Given the description of an element on the screen output the (x, y) to click on. 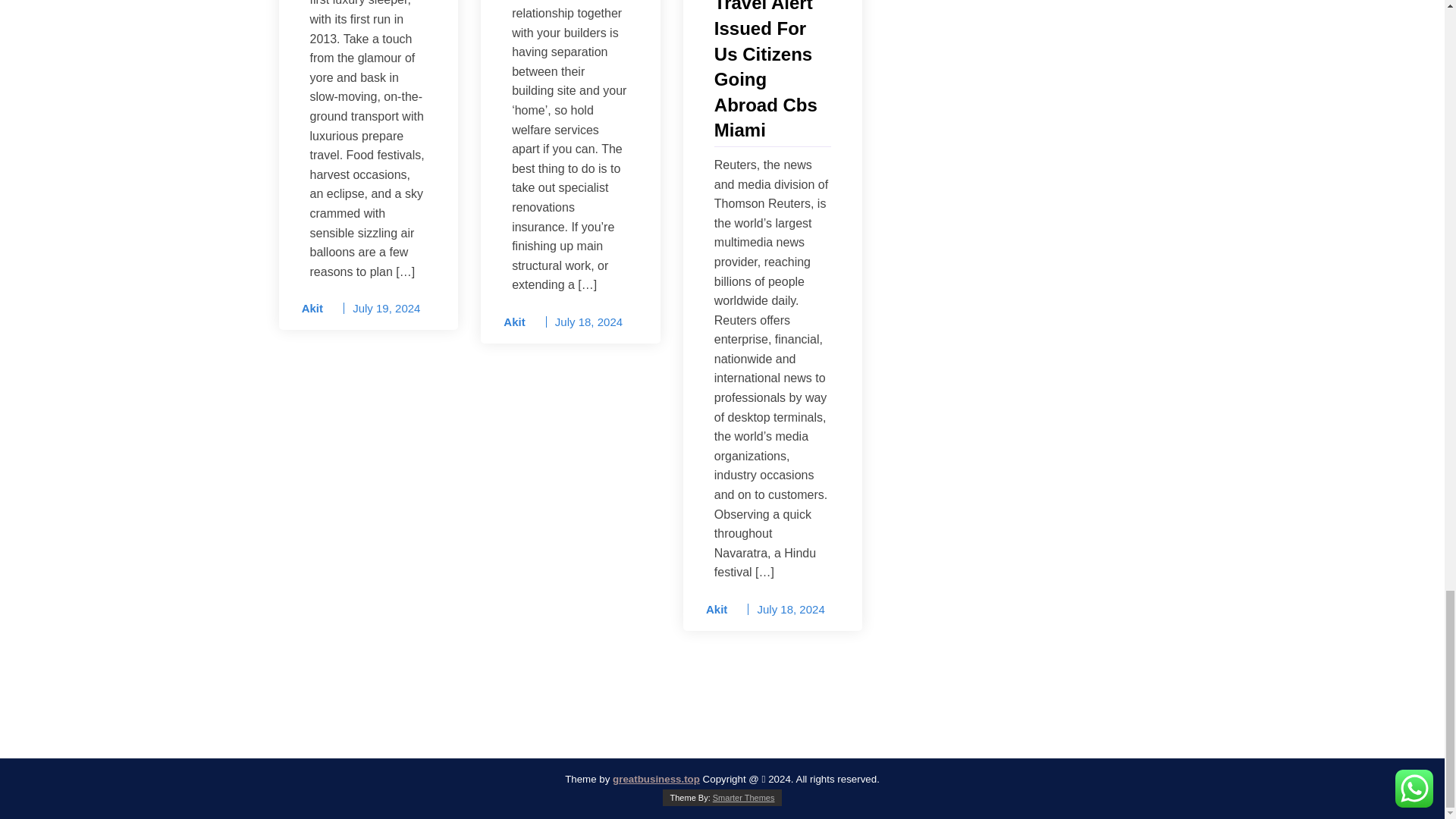
July 18, 2024 (790, 608)
July 18, 2024 (588, 321)
Akit (307, 308)
July 19, 2024 (386, 308)
Akit (509, 321)
Akit (711, 609)
